Given the description of an element on the screen output the (x, y) to click on. 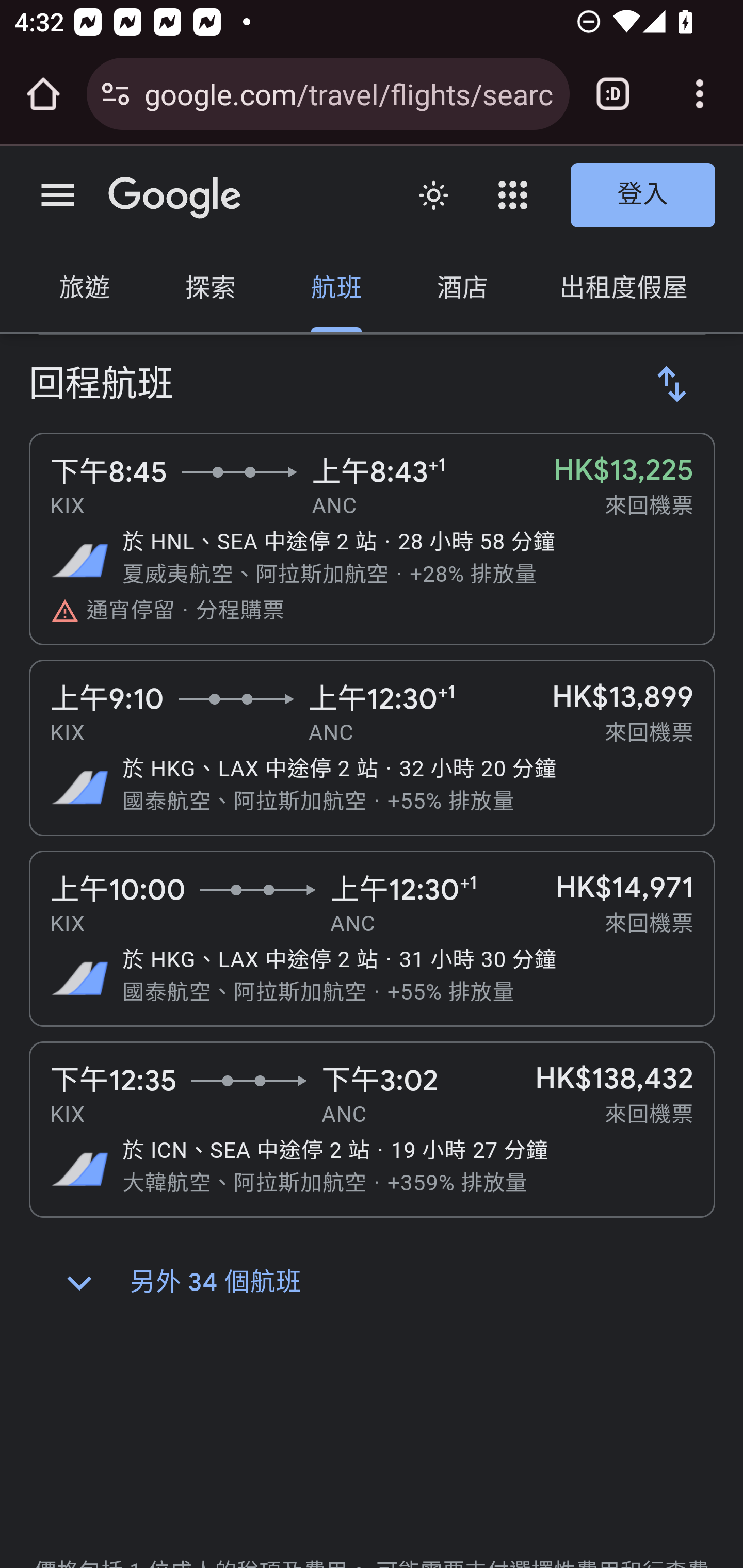
Open the home page (43, 93)
Connection is secure (115, 93)
Switch or close tabs (612, 93)
Customize and control Google Chrome (699, 93)
主選單 (58, 195)
Google Apps (513, 195)
登入 (643, 195)
變更外觀 (433, 195)
Google (175, 199)
旅遊  (84, 289)
探索  (209, 289)
航班  (336, 289)
酒店  (462, 289)
出租度假屋  (623, 289)
最佳航班, 變更排序順序。 (672, 384)
另外 34 個航班 (79, 1283)
